Given the description of an element on the screen output the (x, y) to click on. 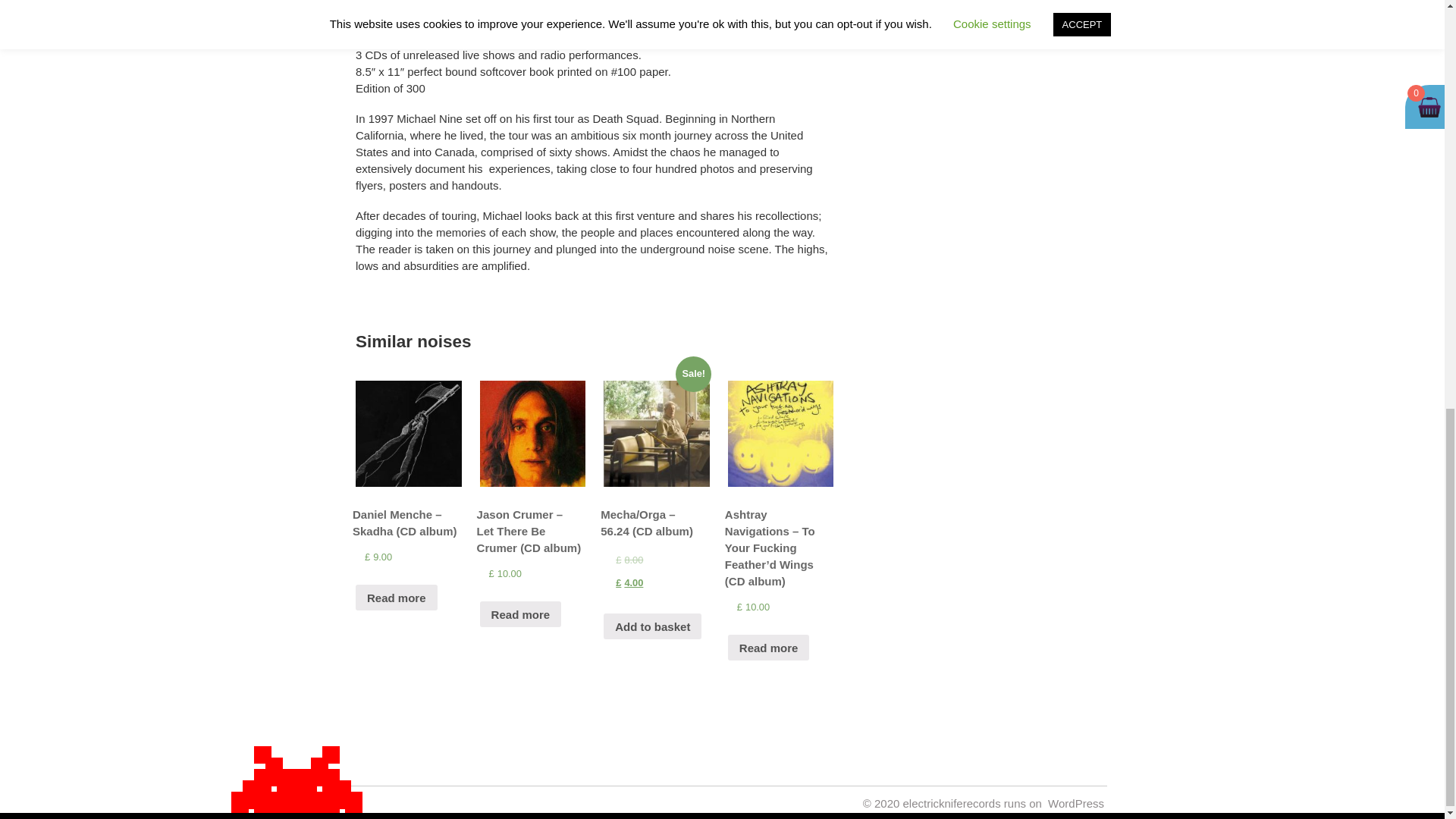
Add to basket (652, 626)
Read more (396, 597)
Read more (768, 647)
Read more (521, 614)
WordPress (1075, 803)
